Given the description of an element on the screen output the (x, y) to click on. 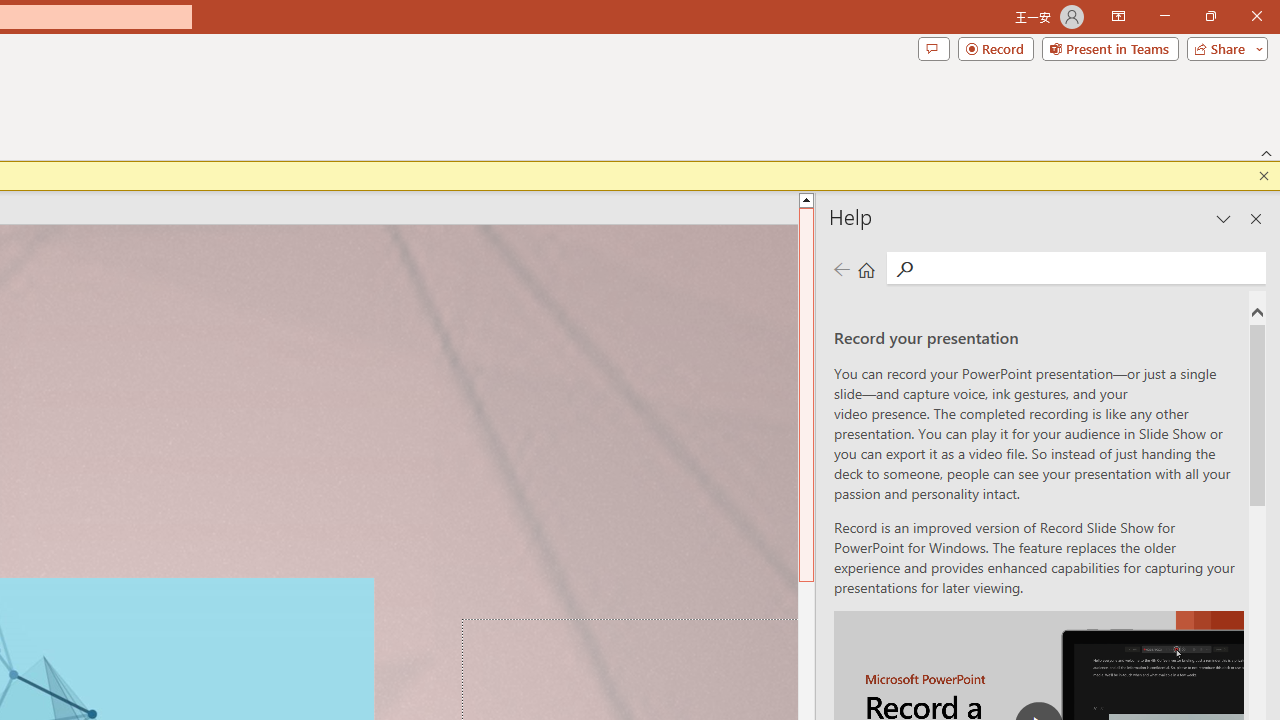
Previous page (841, 269)
